Given the description of an element on the screen output the (x, y) to click on. 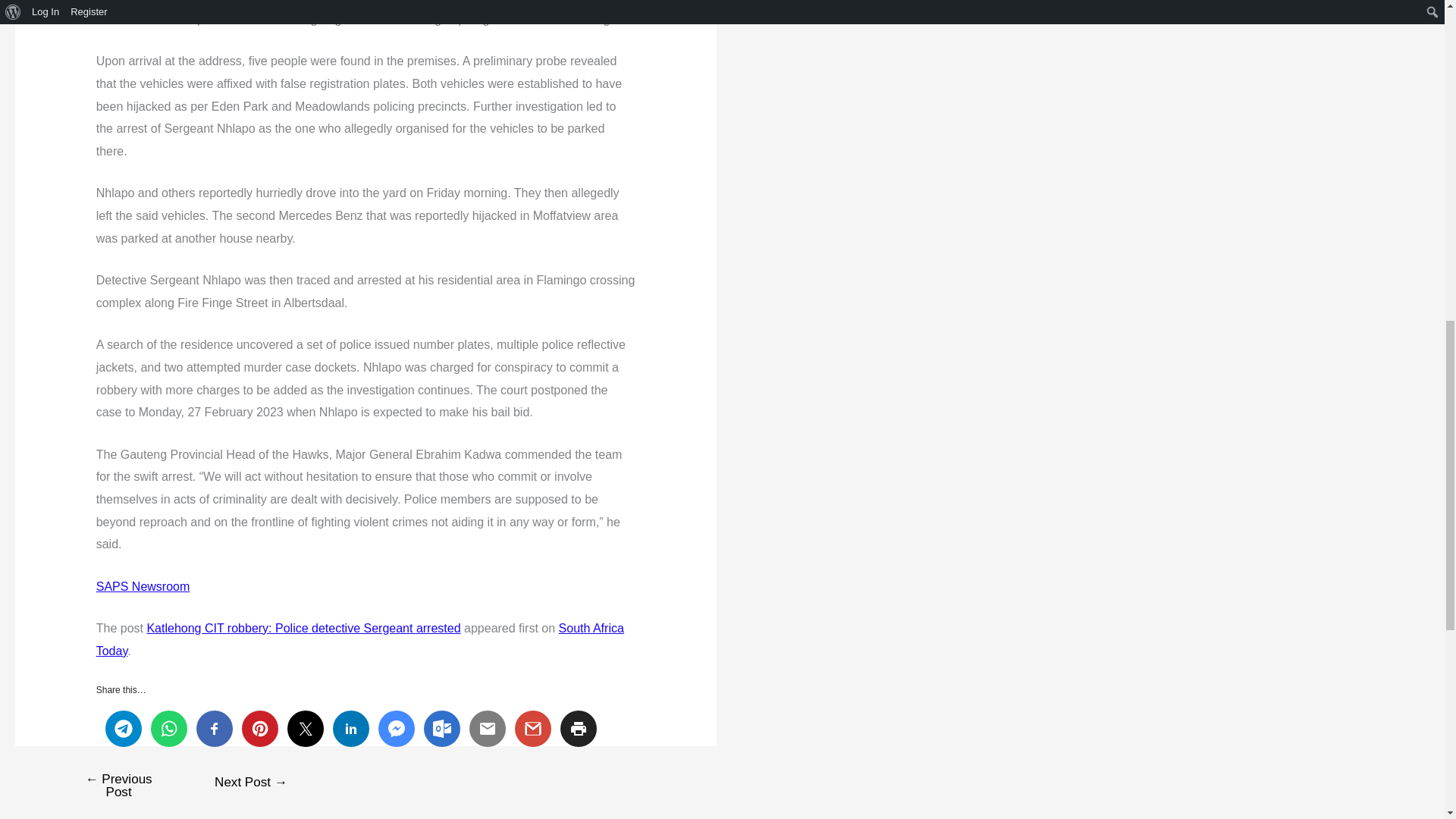
Katlehong CIT robbery: Police detective Sergeant arrested (303, 627)
South Africa Today (360, 639)
SAPS Newsroom (143, 585)
